Given the description of an element on the screen output the (x, y) to click on. 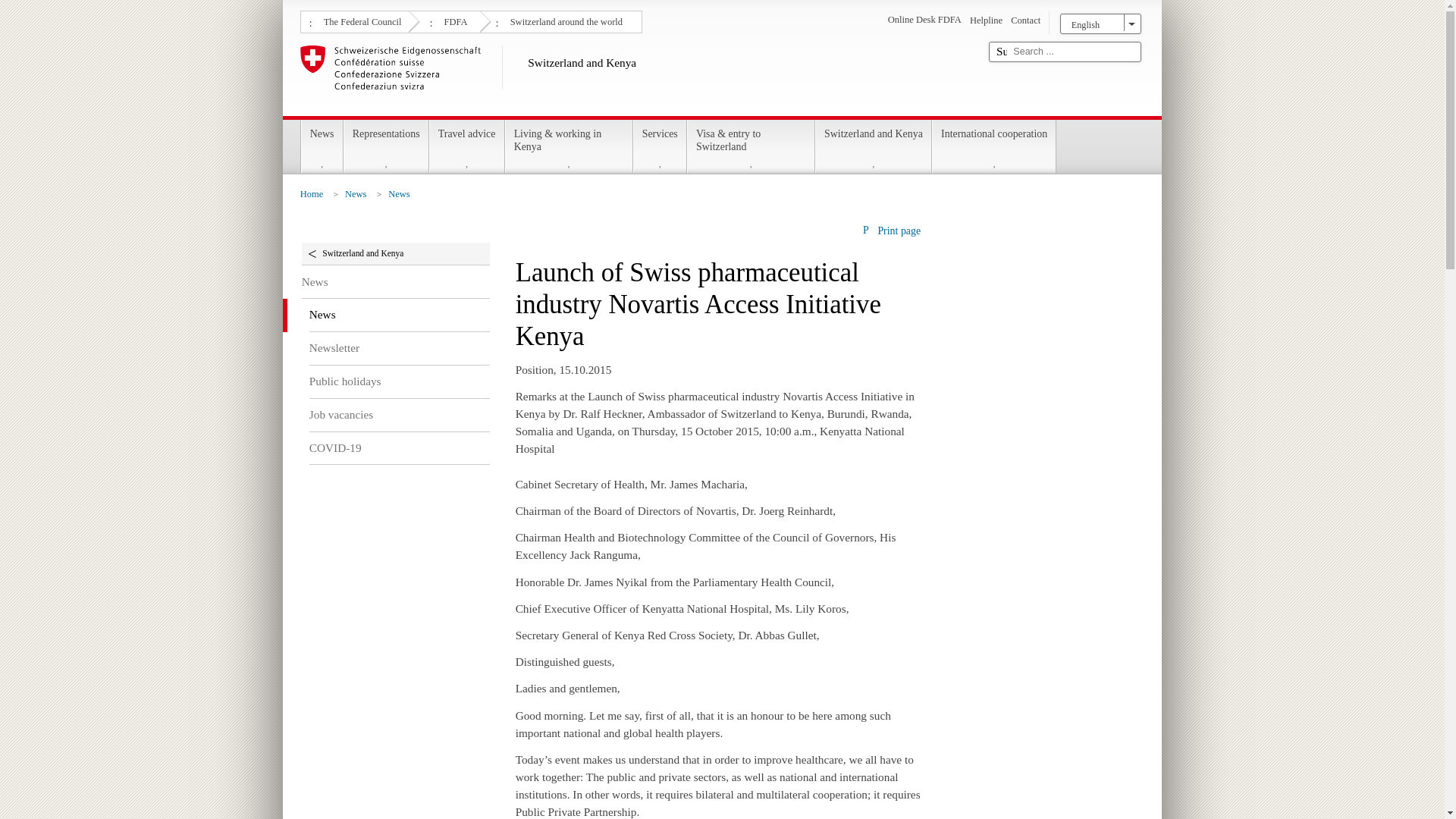
Switzerland and Kenya (637, 76)
FDFA (454, 20)
Switzerland around the world (564, 20)
The Federal Council (360, 20)
